Given the description of an element on the screen output the (x, y) to click on. 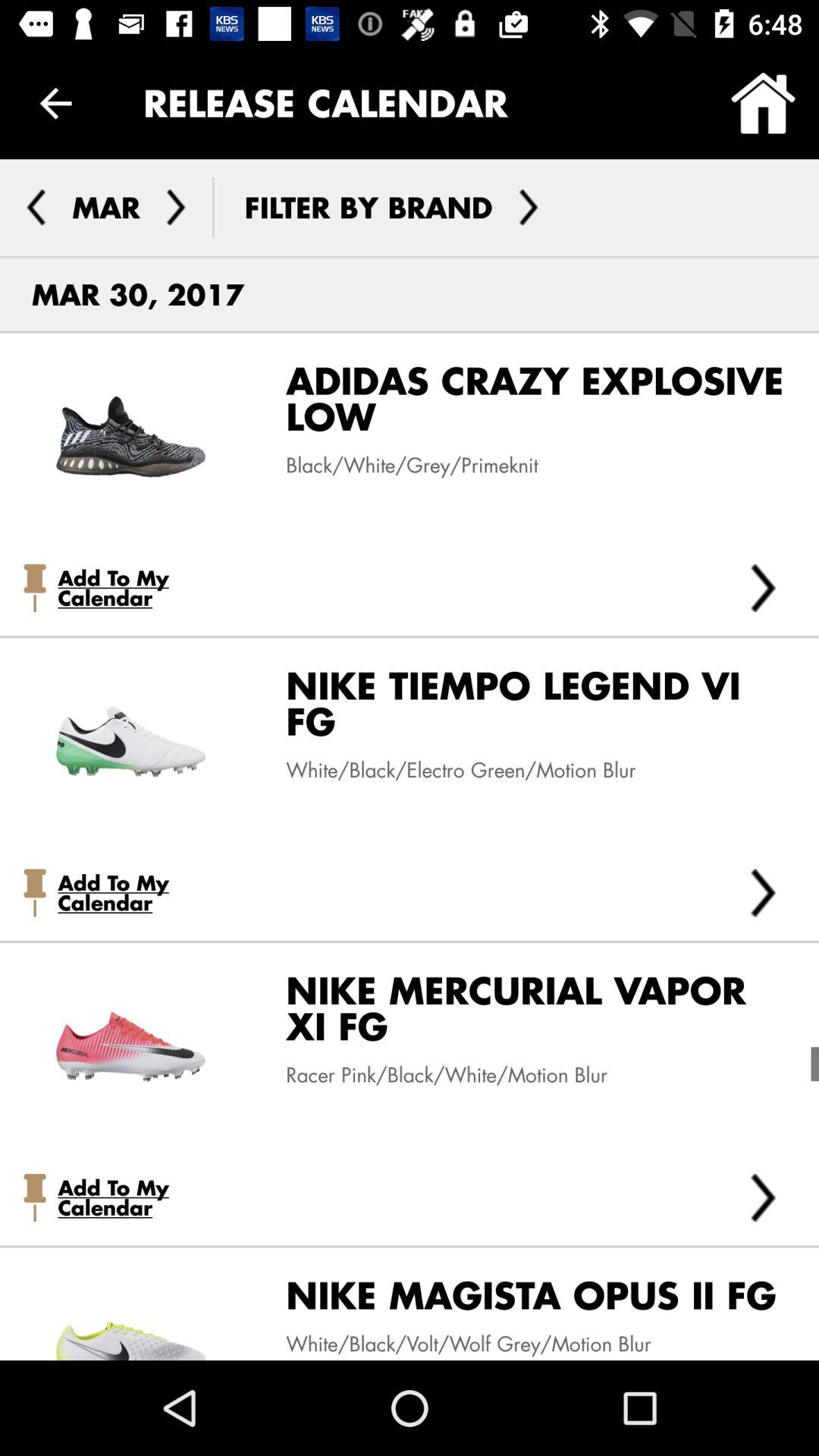
previous (36, 207)
